Given the description of an element on the screen output the (x, y) to click on. 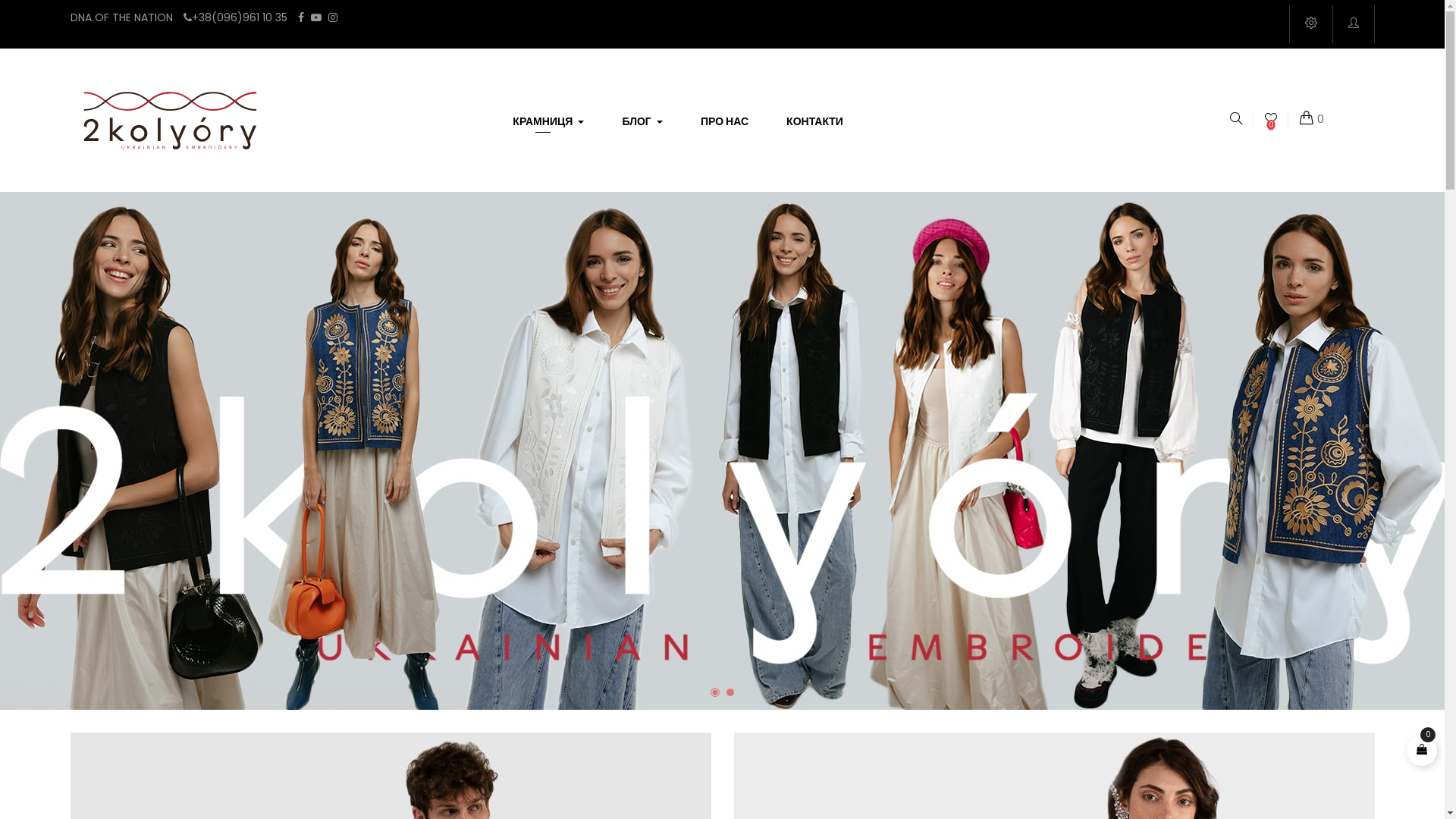
DNA OF THE NATION Element type: text (120, 17)
0 Element type: text (1270, 119)
+38(096)961 10 35 Element type: text (235, 17)
